Given the description of an element on the screen output the (x, y) to click on. 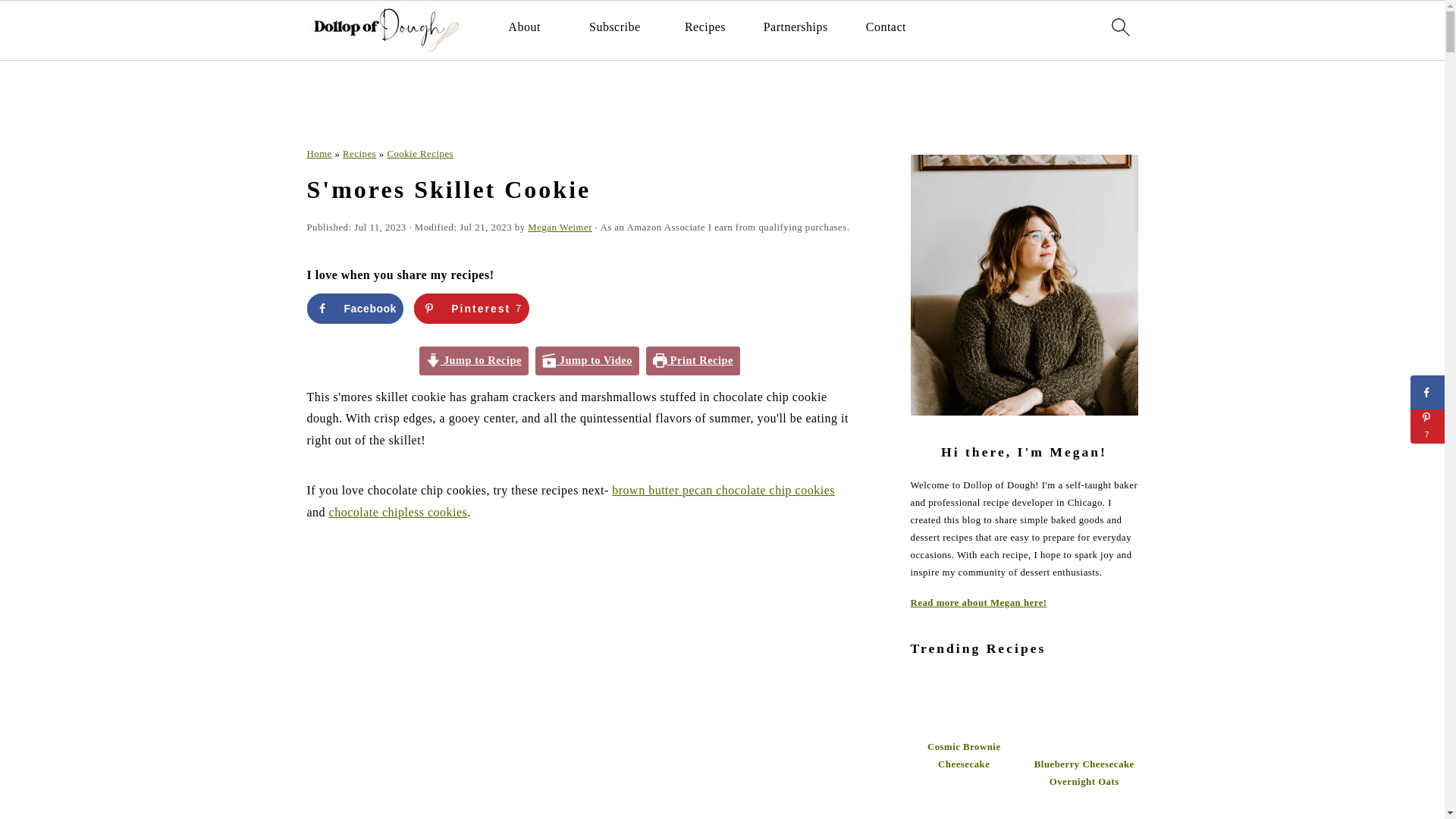
Subscribe (614, 26)
Recipes (704, 26)
Save to Pinterest (470, 308)
search icon (1119, 31)
Home (318, 153)
Contact (885, 26)
About (524, 26)
Share on Facebook (354, 308)
search icon (1119, 26)
Partnerships (795, 26)
